Given the description of an element on the screen output the (x, y) to click on. 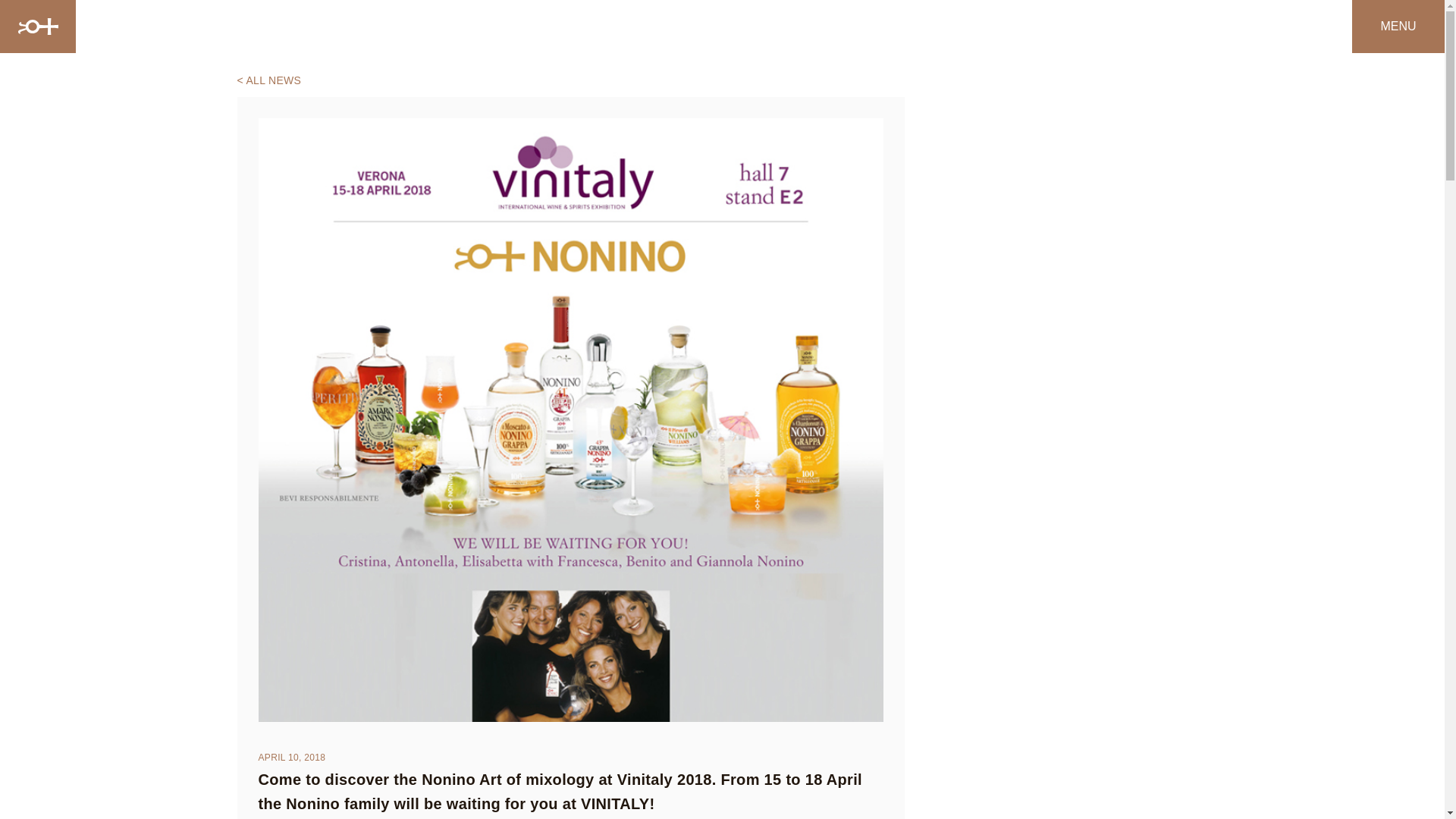
EN (1260, 26)
